Given the description of an element on the screen output the (x, y) to click on. 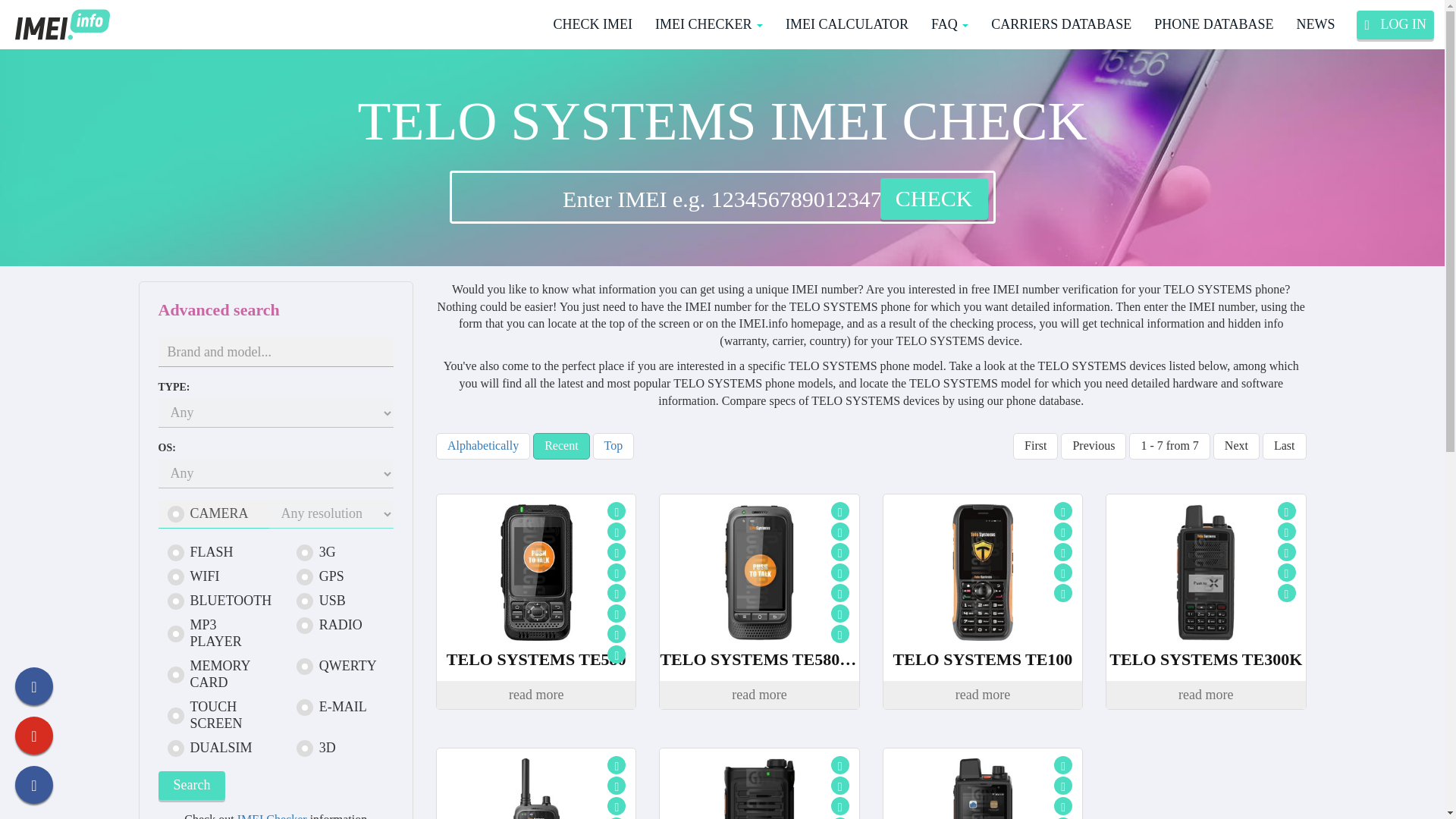
IMEI CHECKER (708, 24)
TELO SYSTEMS TE580 plus (759, 659)
FAQ (949, 24)
TELO SYSTEMS TE580 plus (758, 572)
CHECK IMEI (592, 24)
IMEI CALCULATOR (847, 24)
TELO SYSTEMS TE580 (536, 572)
TELO SYSTEMS TE580 (535, 659)
